Given the description of an element on the screen output the (x, y) to click on. 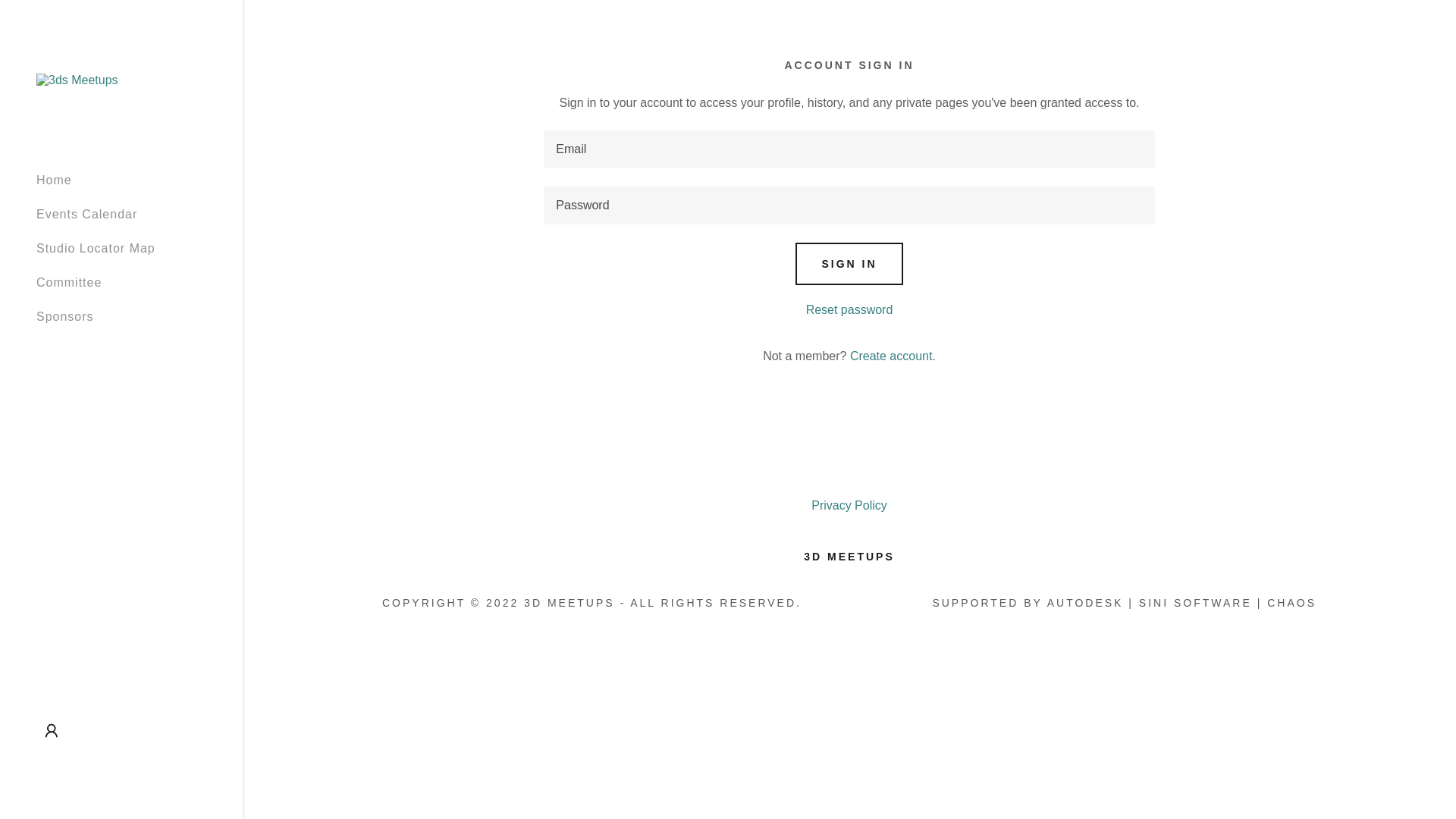
3ds Meetups Element type: hover (77, 78)
Reset password Element type: text (849, 309)
SIGN IN Element type: text (848, 263)
Events Calendar Element type: text (86, 213)
Home Element type: text (54, 179)
Sponsors Element type: text (65, 316)
Privacy Policy Element type: text (849, 505)
Create account. Element type: text (892, 355)
Committee Element type: text (68, 282)
Studio Locator Map Element type: text (95, 247)
